Given the description of an element on the screen output the (x, y) to click on. 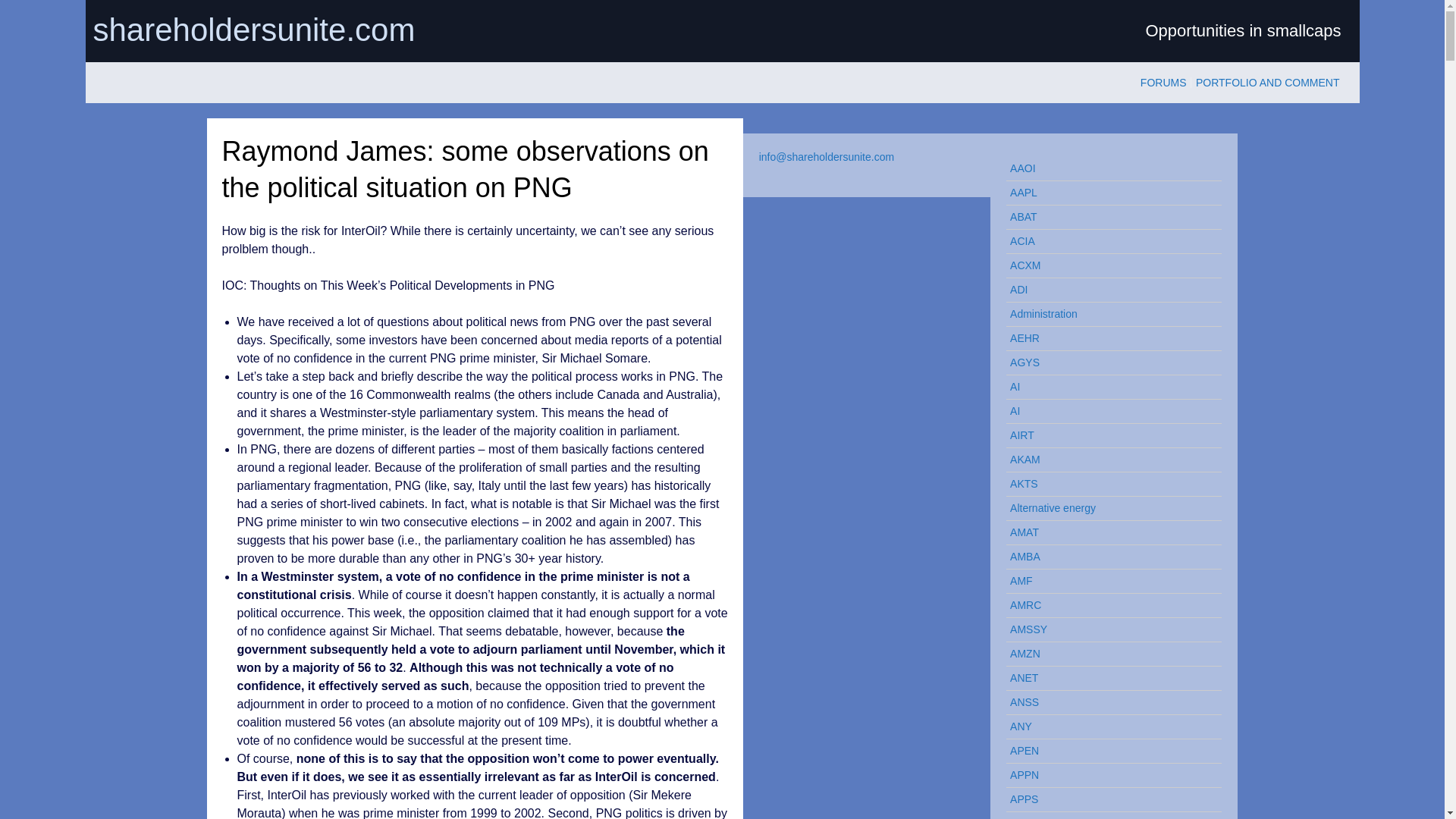
AKTS (1107, 484)
AMAT (1107, 532)
ABAT (1107, 217)
Administration (1107, 313)
AKAM (1107, 459)
AI (1107, 386)
ANSS (1107, 702)
AIRT (1107, 435)
ACIA (1107, 241)
PORTFOLIO AND COMMENT (1266, 82)
